Given the description of an element on the screen output the (x, y) to click on. 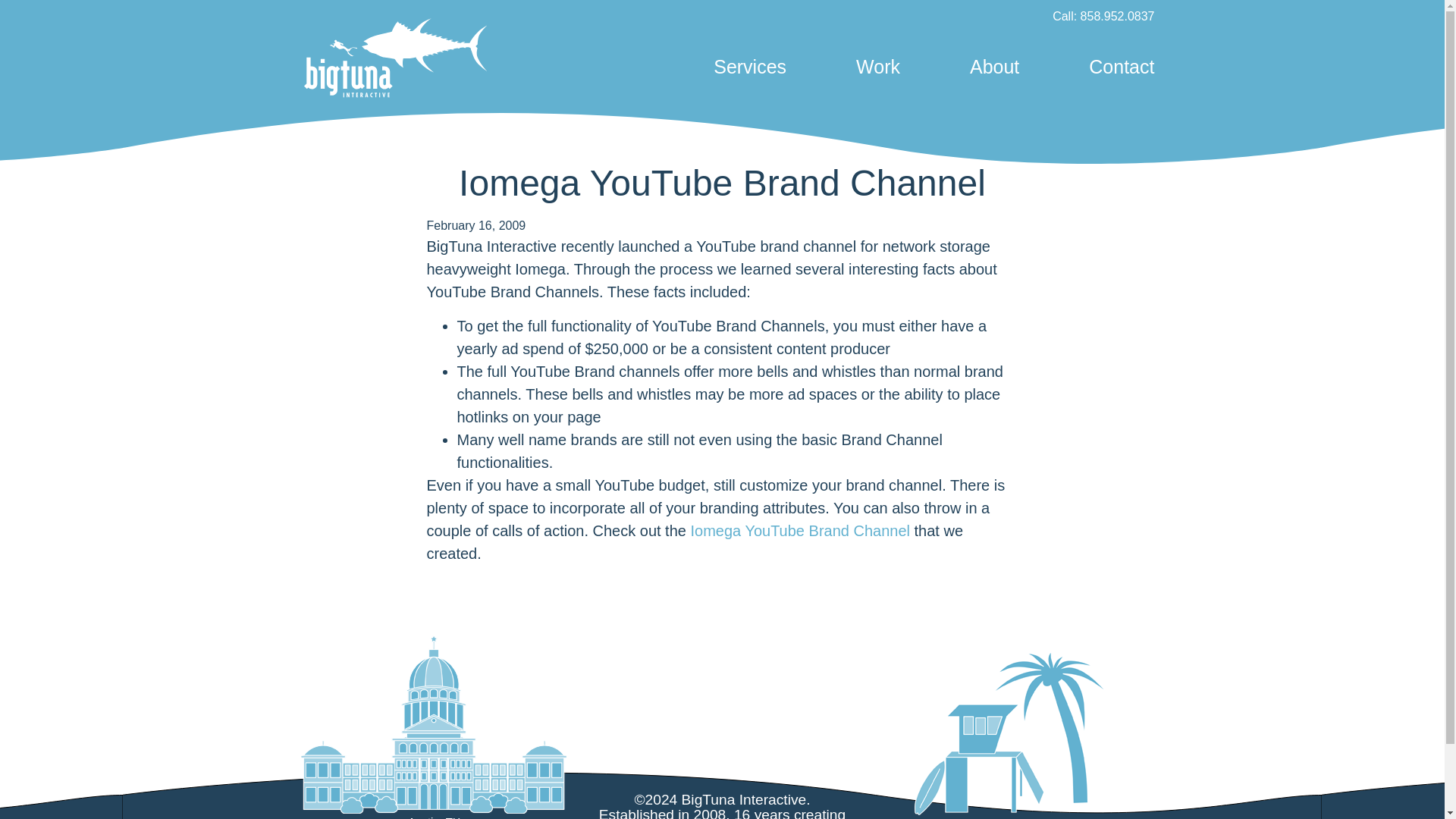
About (994, 66)
Services (749, 66)
Work (877, 66)
Contact (1114, 66)
Iomega YouTube Brand Channel (799, 530)
